Given the description of an element on the screen output the (x, y) to click on. 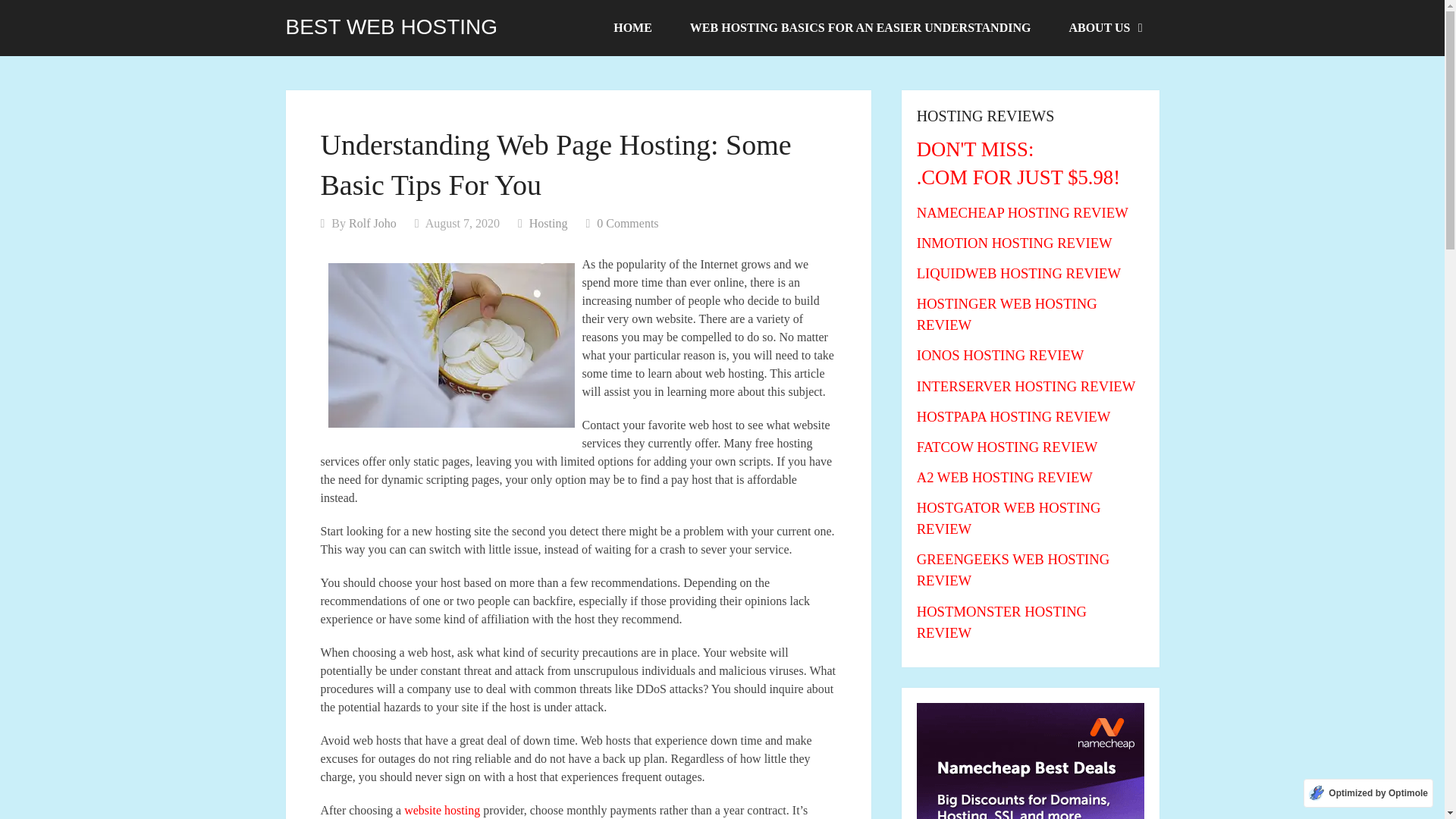
HOSTINGER WEB HOSTING REVIEW (1007, 313)
HOSTMONSTER HOSTING REVIEW (1001, 621)
HOSTPAPA HOSTING REVIEW (1013, 416)
website hosting (442, 809)
IONOS HOSTING REVIEW (1000, 355)
ABOUT US (1103, 28)
Posts by Rolf Joho (372, 223)
HOME (632, 28)
0 Comments (627, 223)
WEB HOSTING BASICS FOR AN EASIER UNDERSTANDING (860, 28)
